Given the description of an element on the screen output the (x, y) to click on. 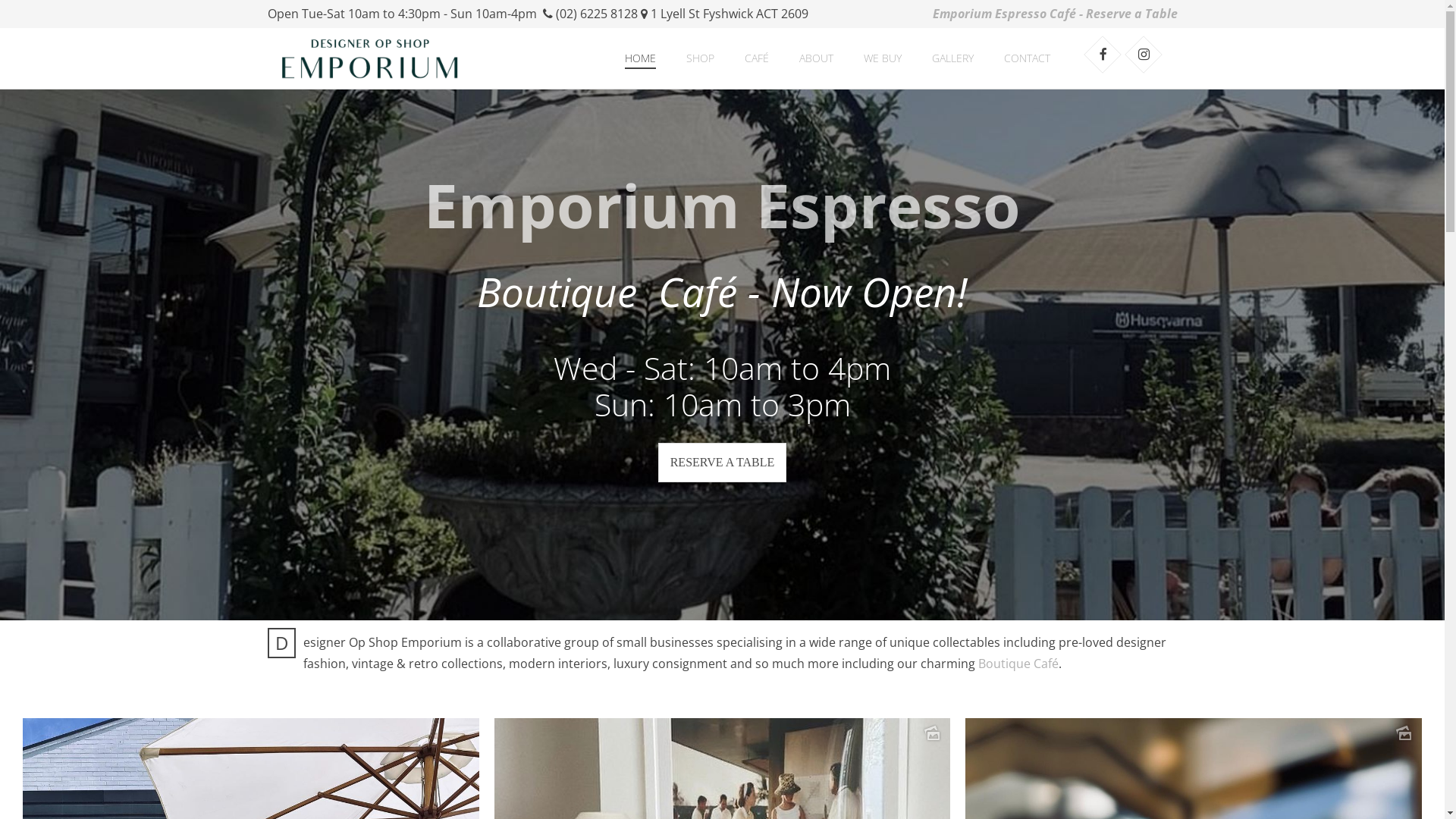
Instagram Element type: hover (1143, 55)
GALLERY Element type: text (951, 58)
CONTACT Element type: text (1027, 58)
SHOP Element type: text (699, 58)
HOME Element type: text (639, 58)
Designer Op Shop Emporium & Cafe Element type: hover (369, 58)
- Now Open! Element type: text (857, 294)
Facebook Element type: hover (1102, 55)
WE BUY Element type: text (881, 58)
ABOUT Element type: text (816, 58)
RESERVE A TABLE Element type: text (722, 462)
Emporium Espresso Element type: text (721, 204)
